Given the description of an element on the screen output the (x, y) to click on. 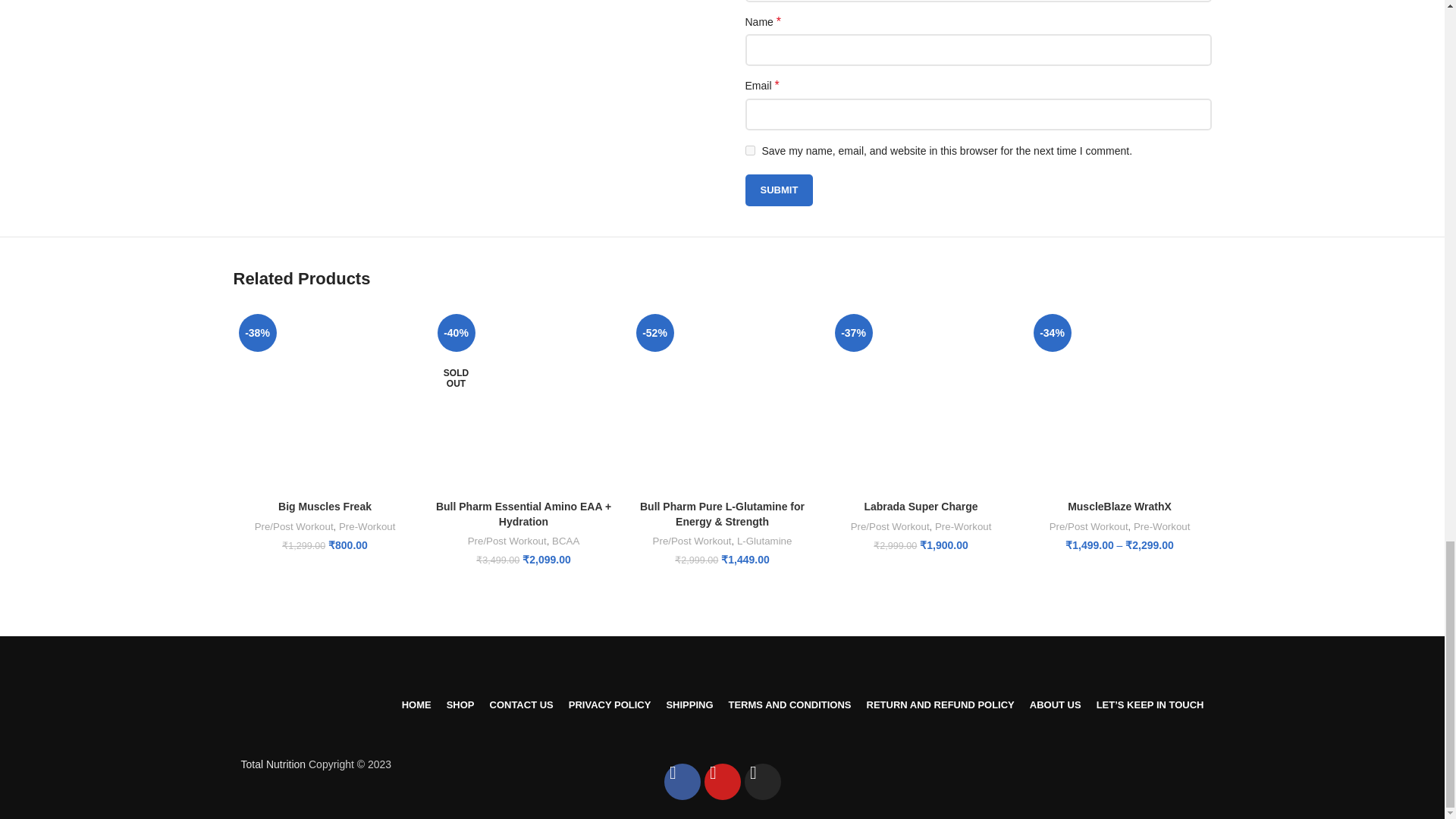
yes (749, 150)
Submit (778, 190)
